Given the description of an element on the screen output the (x, y) to click on. 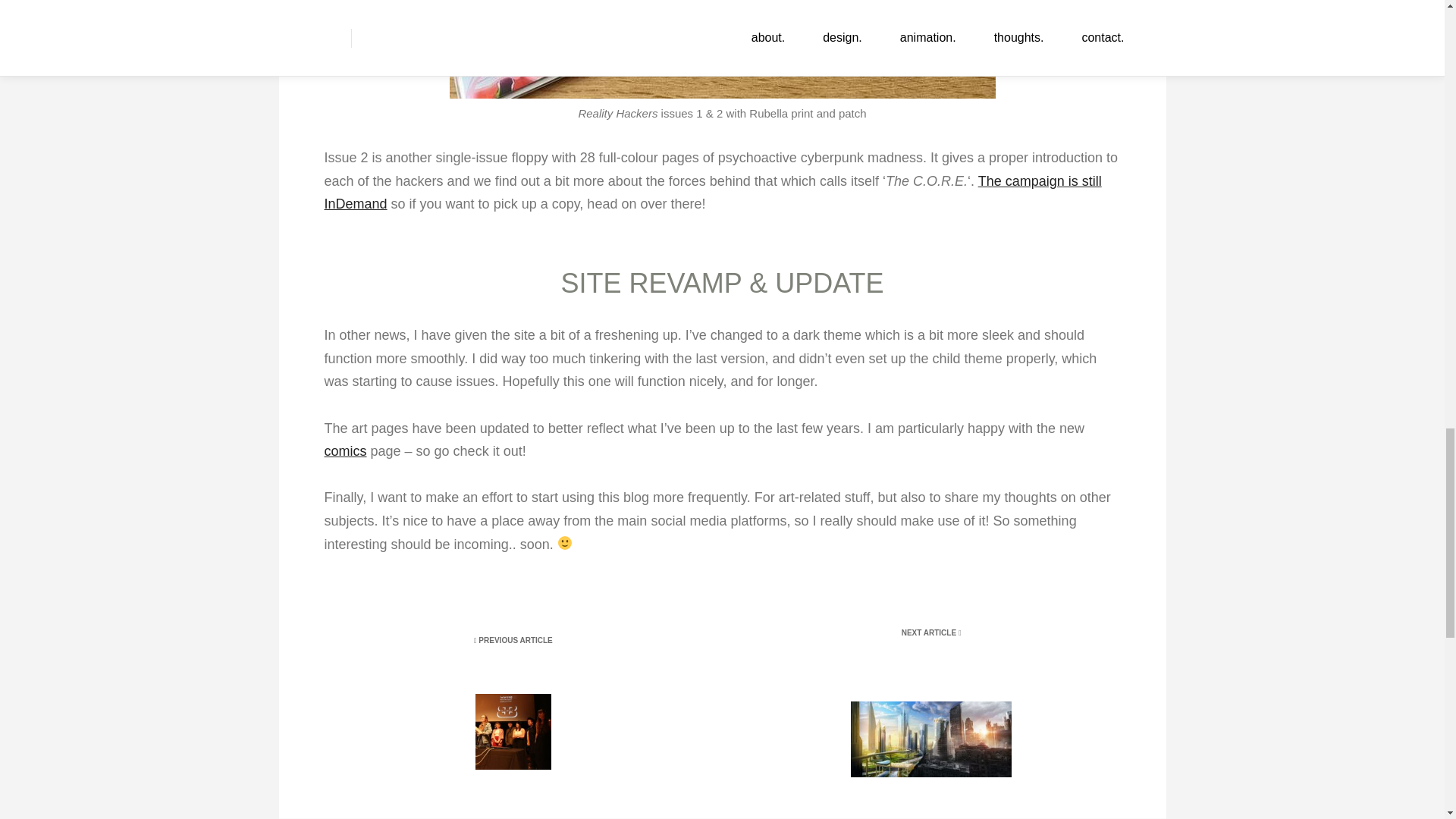
comics (345, 450)
The campaign is still InDemand (713, 192)
